Given the description of an element on the screen output the (x, y) to click on. 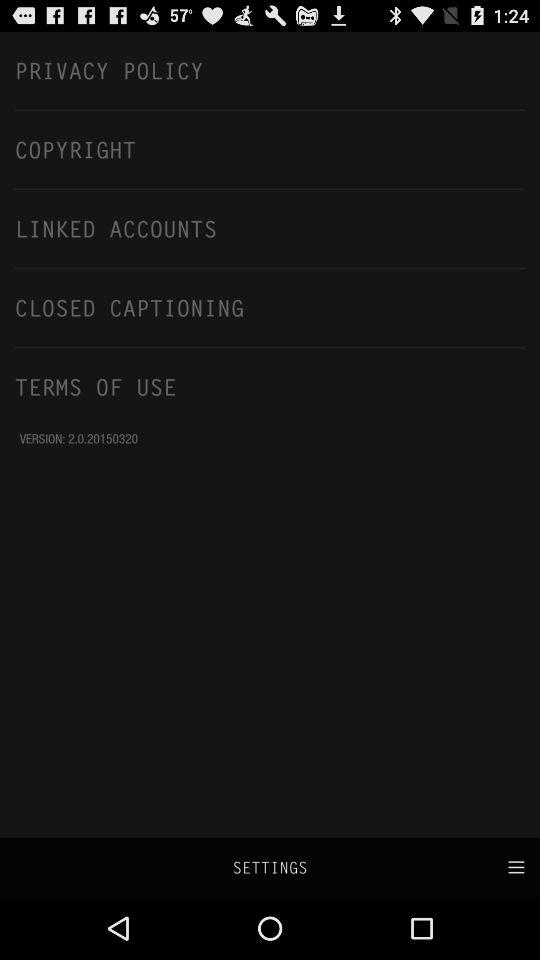
swipe to privacy policy (270, 70)
